Given the description of an element on the screen output the (x, y) to click on. 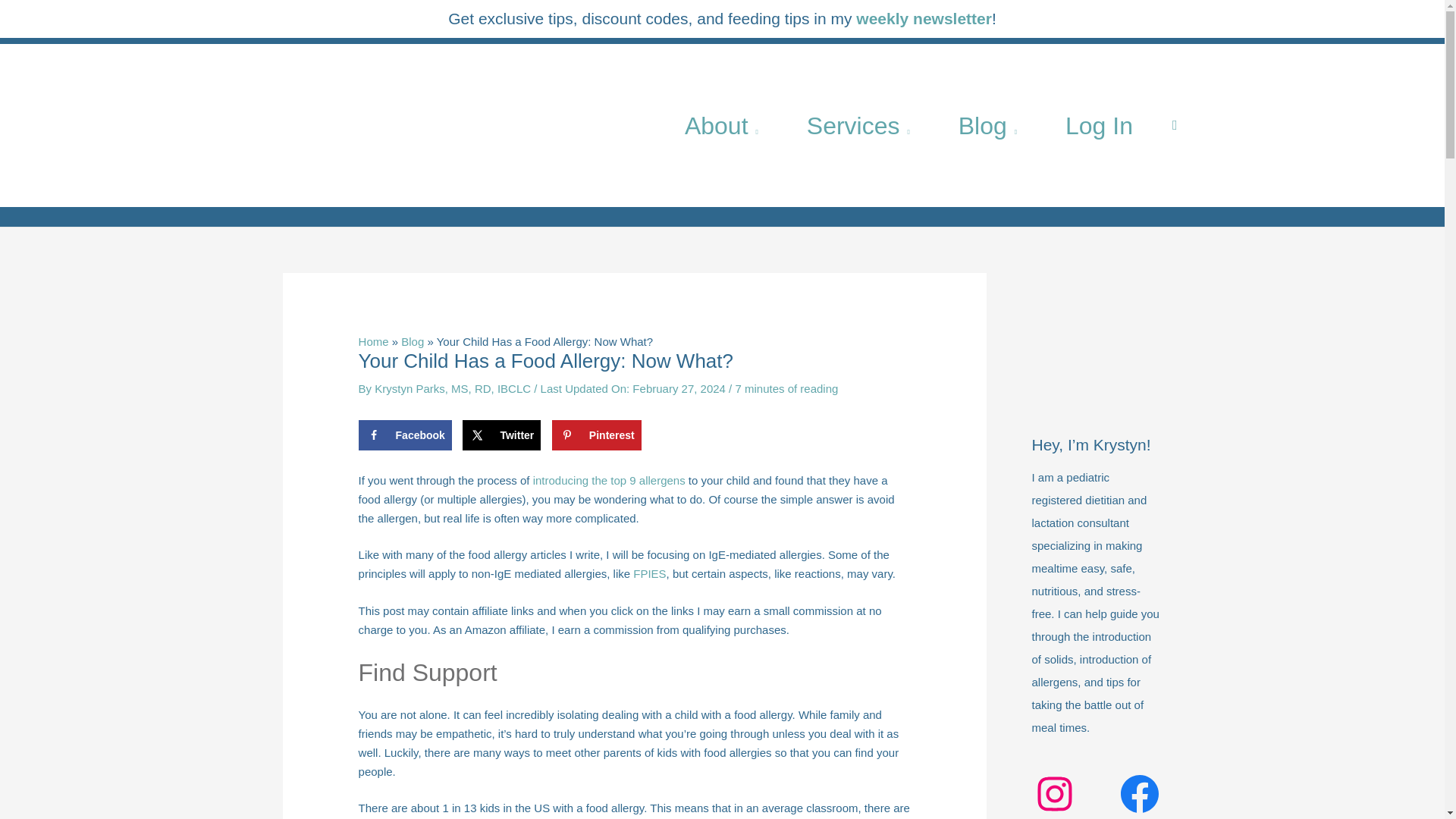
Blog (987, 124)
Save to Pinterest (596, 435)
Share on X (501, 435)
View all posts by Krystyn Parks, MS, RD, IBCLC (454, 388)
Share on Facebook (404, 435)
Services (858, 124)
About (722, 124)
Log In (1099, 124)
weekly newsletter (923, 18)
